Given the description of an element on the screen output the (x, y) to click on. 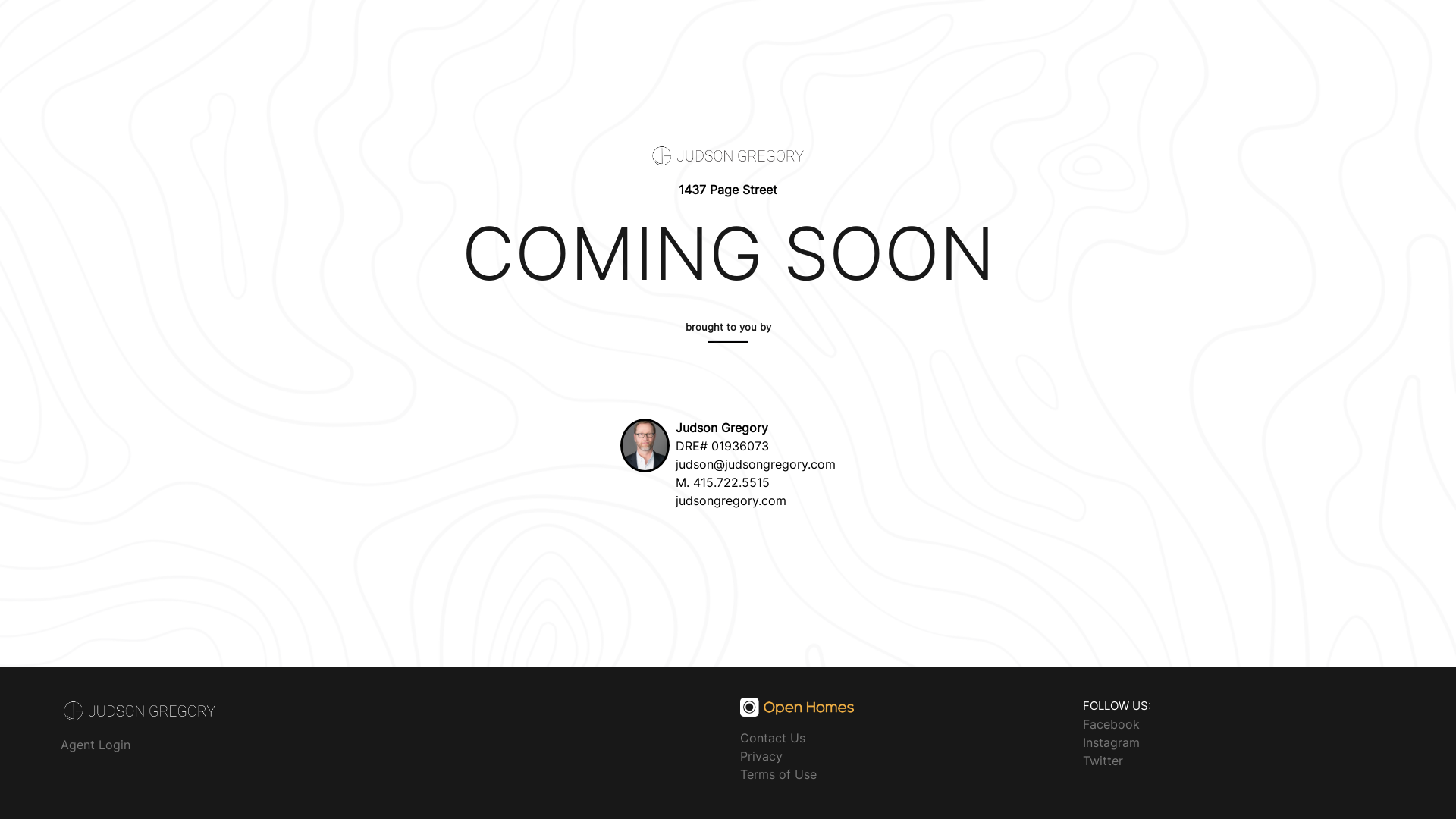
Agent Login Element type: text (95, 744)
Contact Us Element type: text (772, 737)
Instagram Element type: text (1110, 741)
judson@judsongregory.com Element type: text (755, 463)
Twitter Element type: text (1102, 759)
judsongregory.com Element type: text (730, 500)
415.722.5515 Element type: text (731, 481)
Facebook Element type: text (1110, 723)
Terms of Use Element type: text (778, 773)
Privacy Element type: text (761, 755)
